Given the description of an element on the screen output the (x, y) to click on. 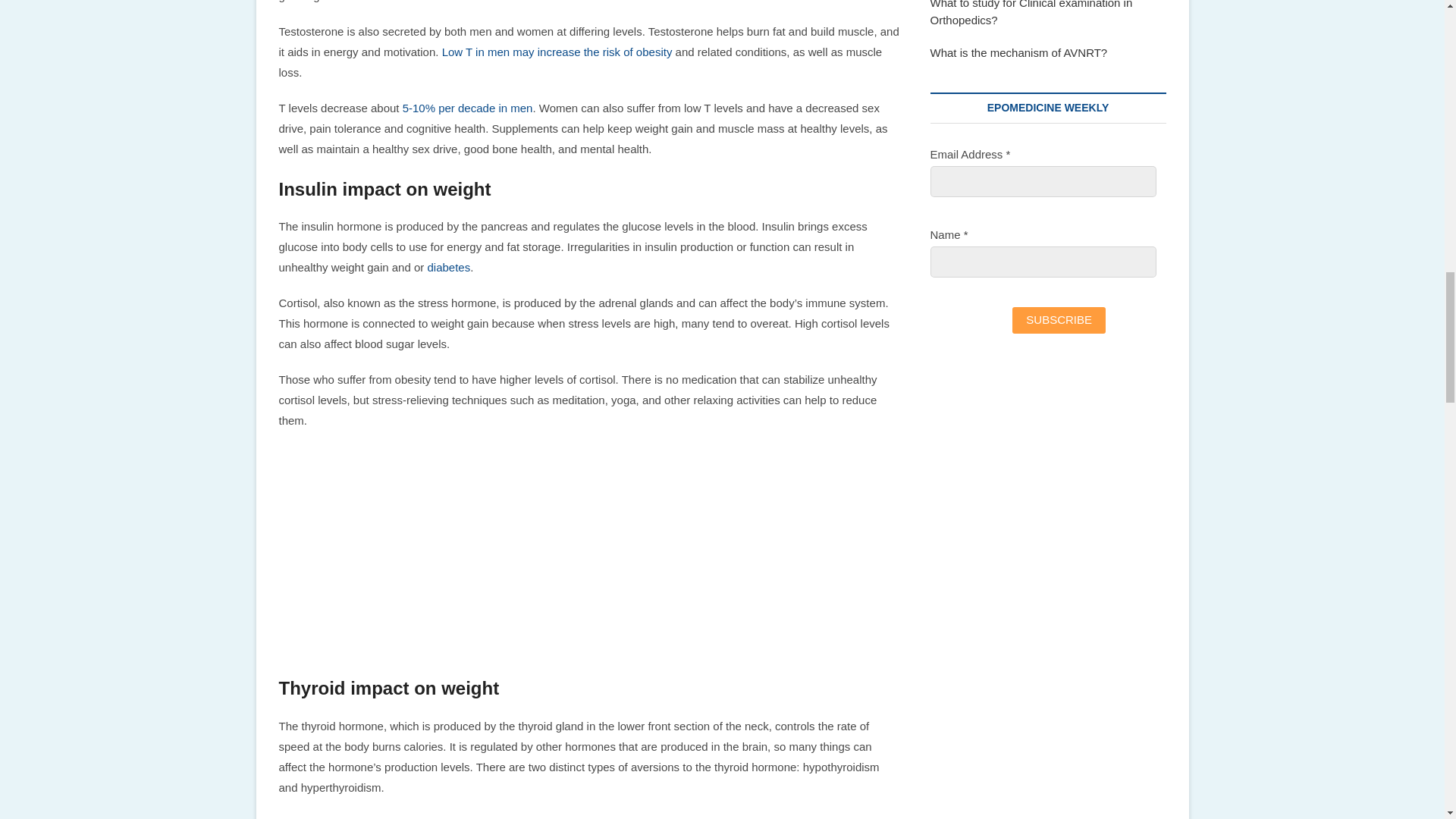
diabetes (448, 267)
Subscribe (1058, 320)
Low T in men may increase the risk of obesity (557, 51)
